Given the description of an element on the screen output the (x, y) to click on. 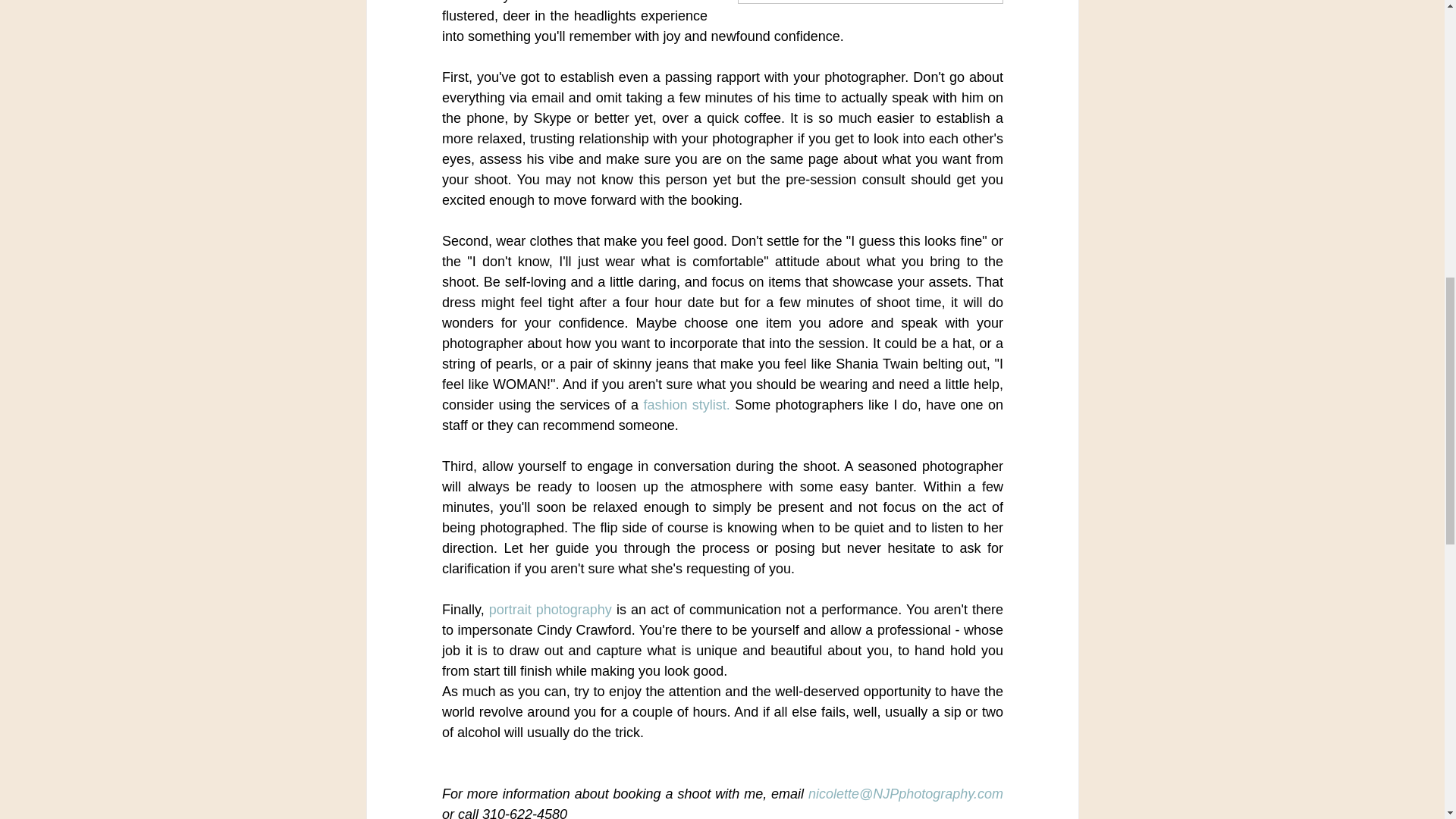
portrait photography (549, 609)
fashion stylist. (686, 404)
